Given the description of an element on the screen output the (x, y) to click on. 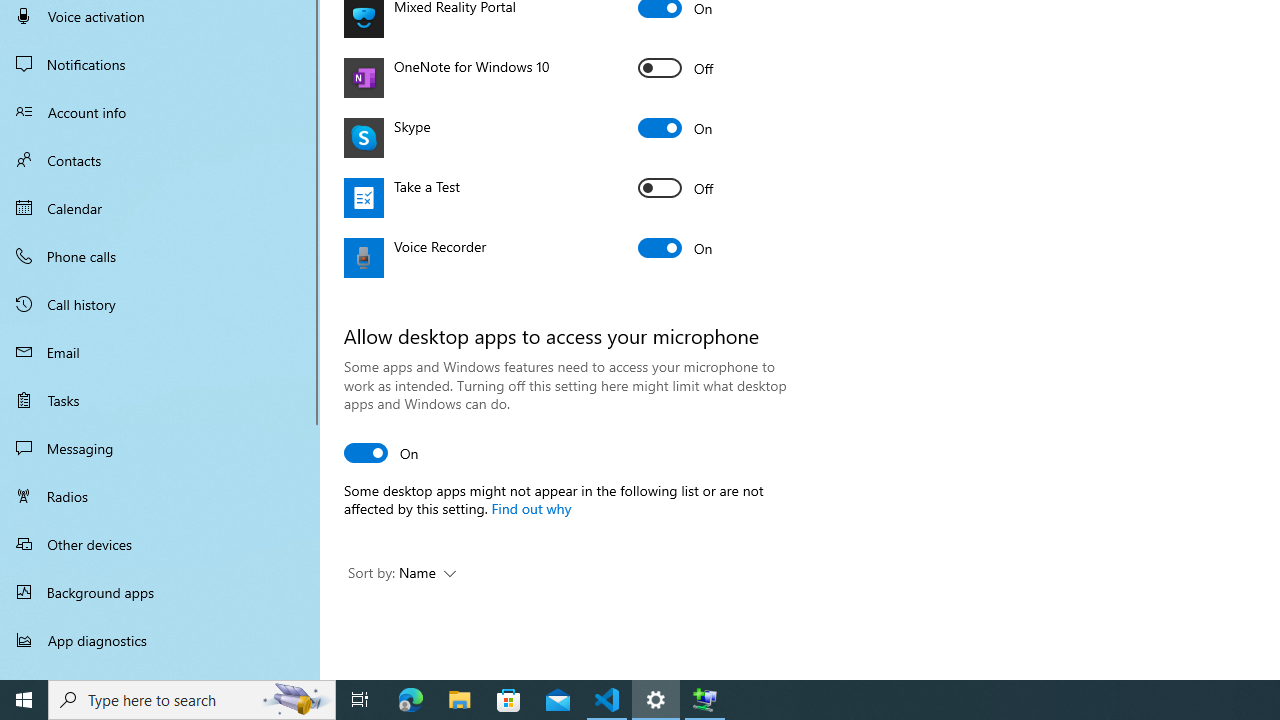
Messaging (160, 448)
App diagnostics (160, 639)
